Given the description of an element on the screen output the (x, y) to click on. 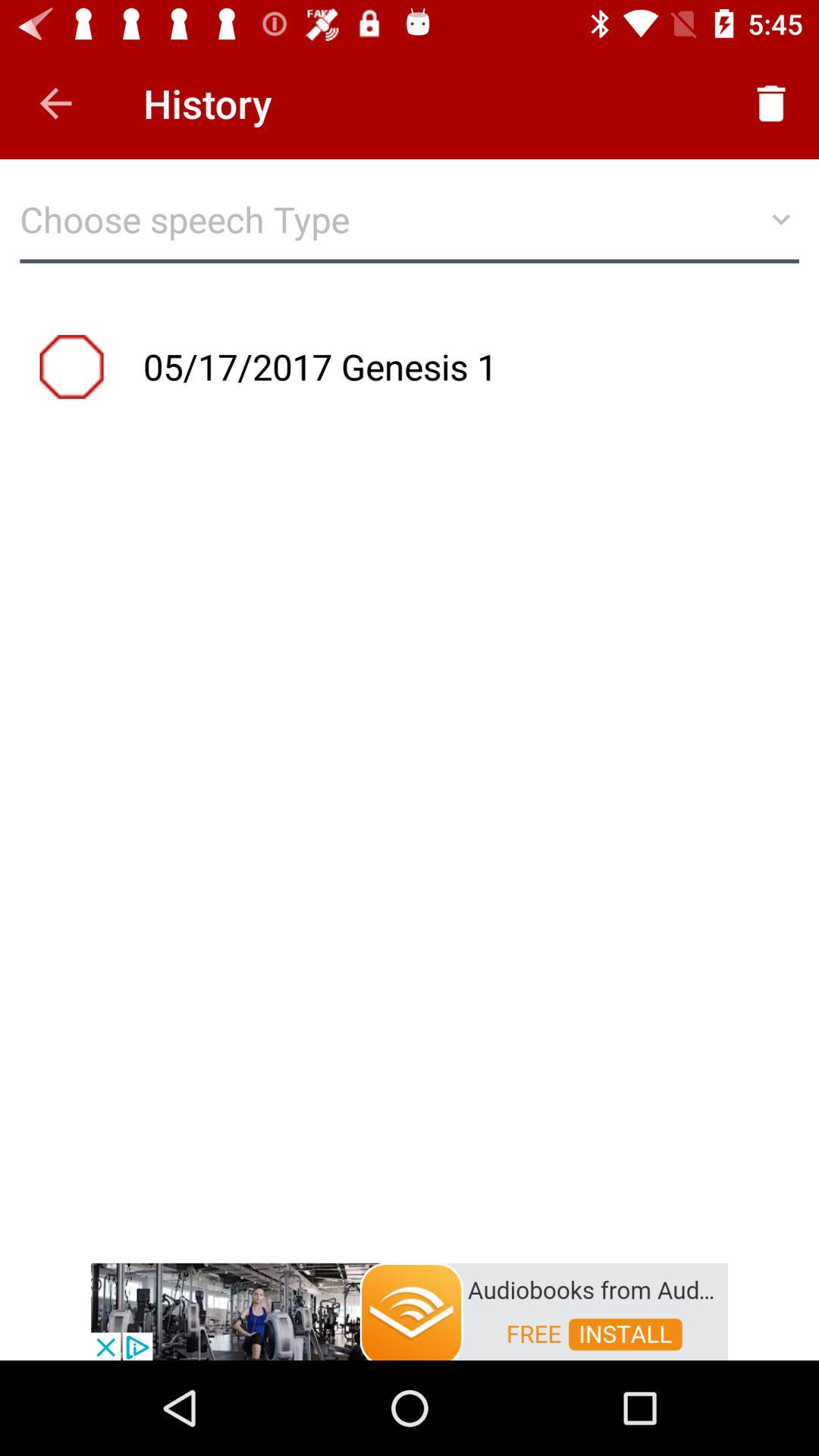
speech type dropdown list (409, 227)
